Given the description of an element on the screen output the (x, y) to click on. 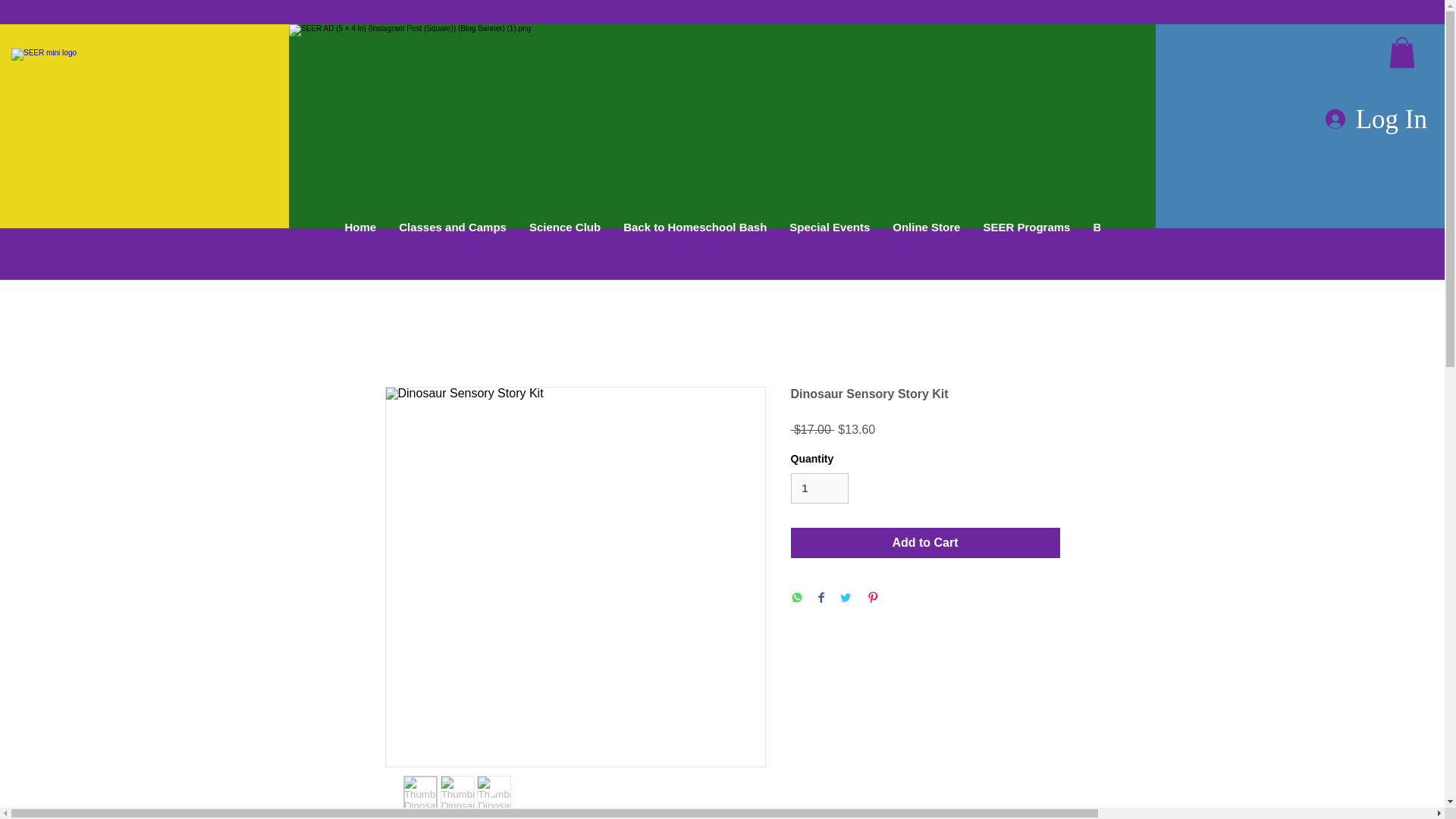
Science Club (564, 255)
Birthday Parties (1136, 255)
Special Events (828, 255)
Classes and Camps (452, 255)
Add to Cart (924, 542)
Back to Homeschool Bash (694, 255)
Log In (1376, 119)
Online Store (925, 255)
1 (818, 488)
SEER Programs (1026, 255)
